Given the description of an element on the screen output the (x, y) to click on. 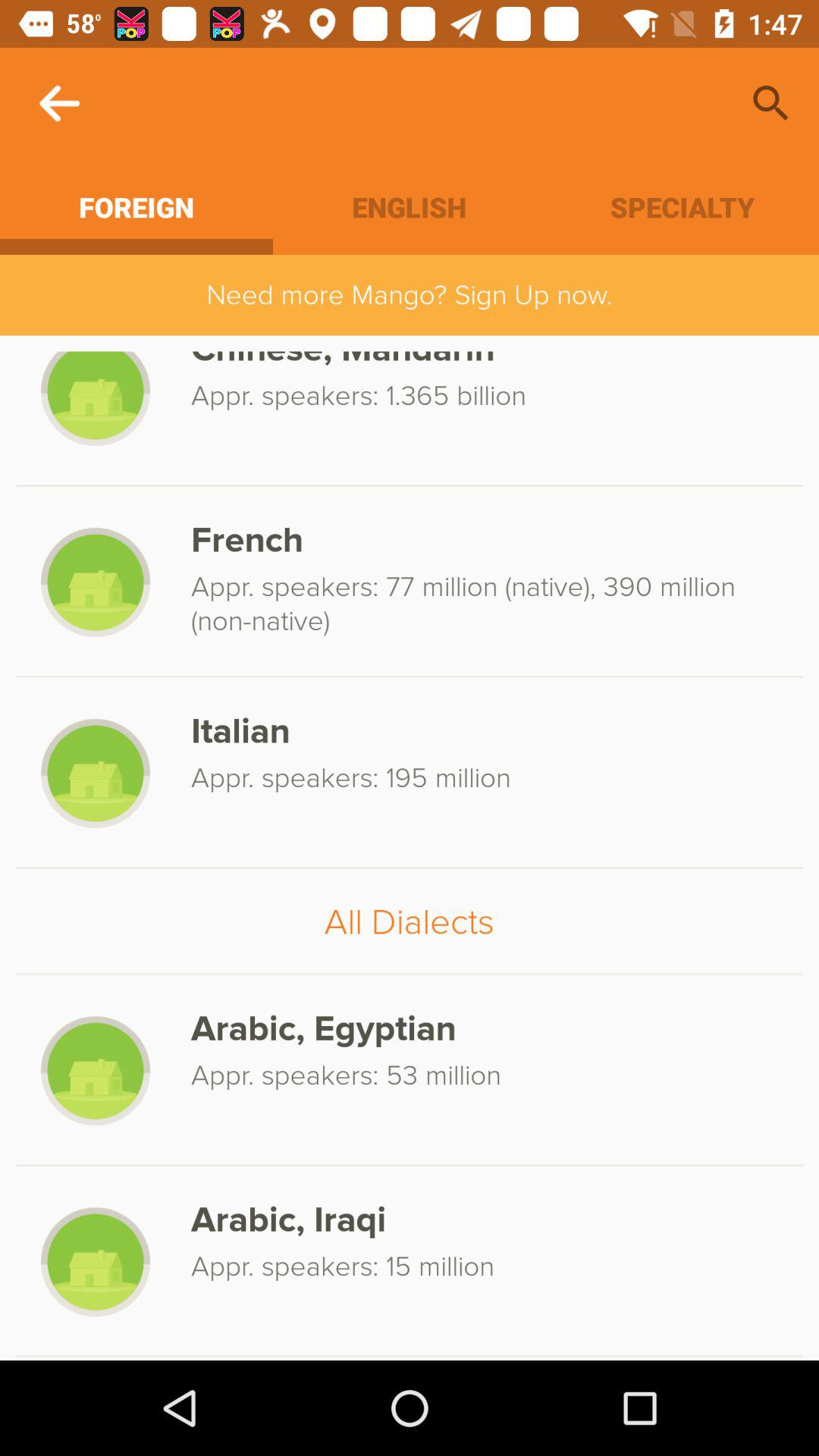
go back (59, 103)
